Given the description of an element on the screen output the (x, y) to click on. 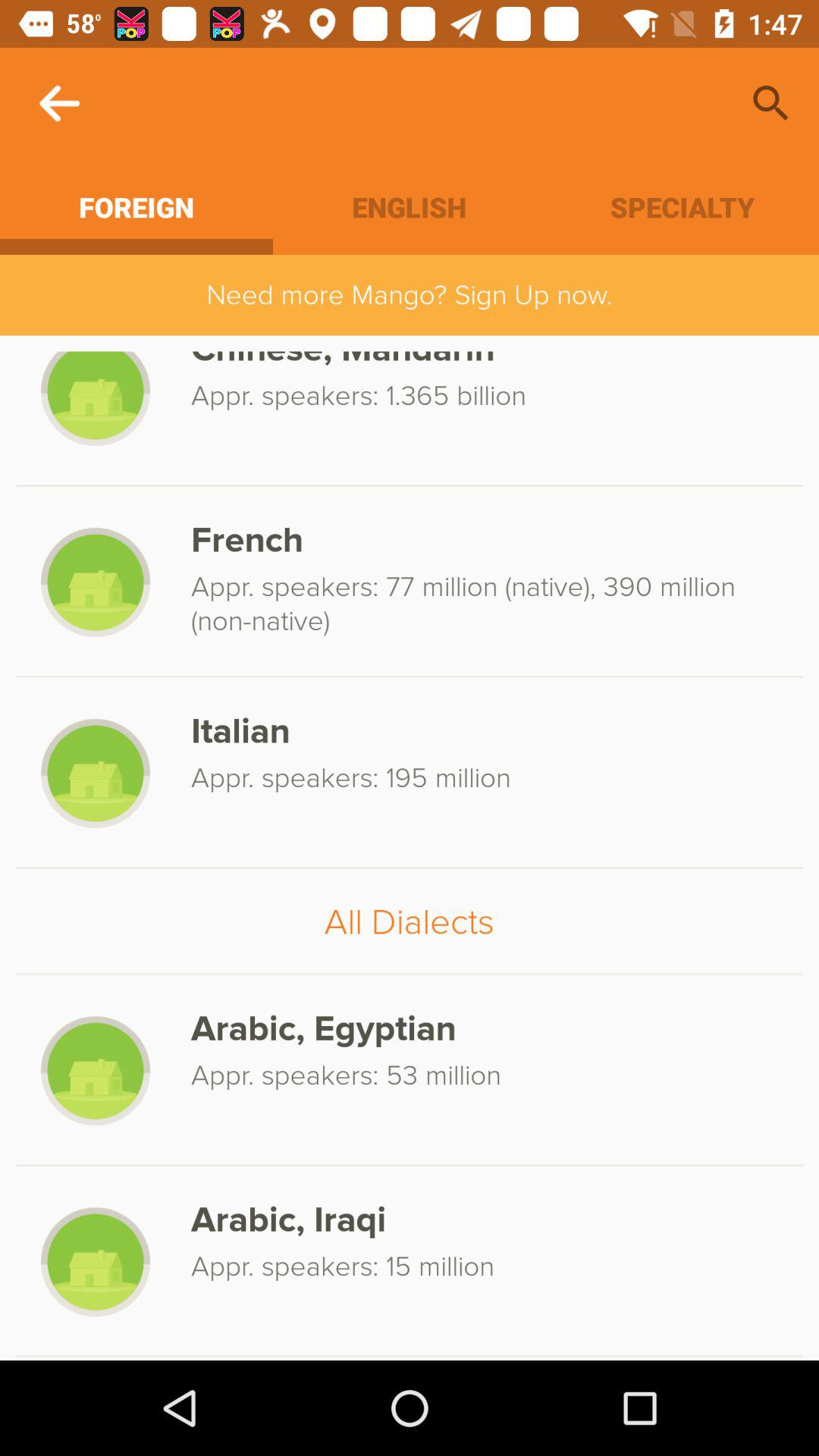
go back (59, 103)
